Given the description of an element on the screen output the (x, y) to click on. 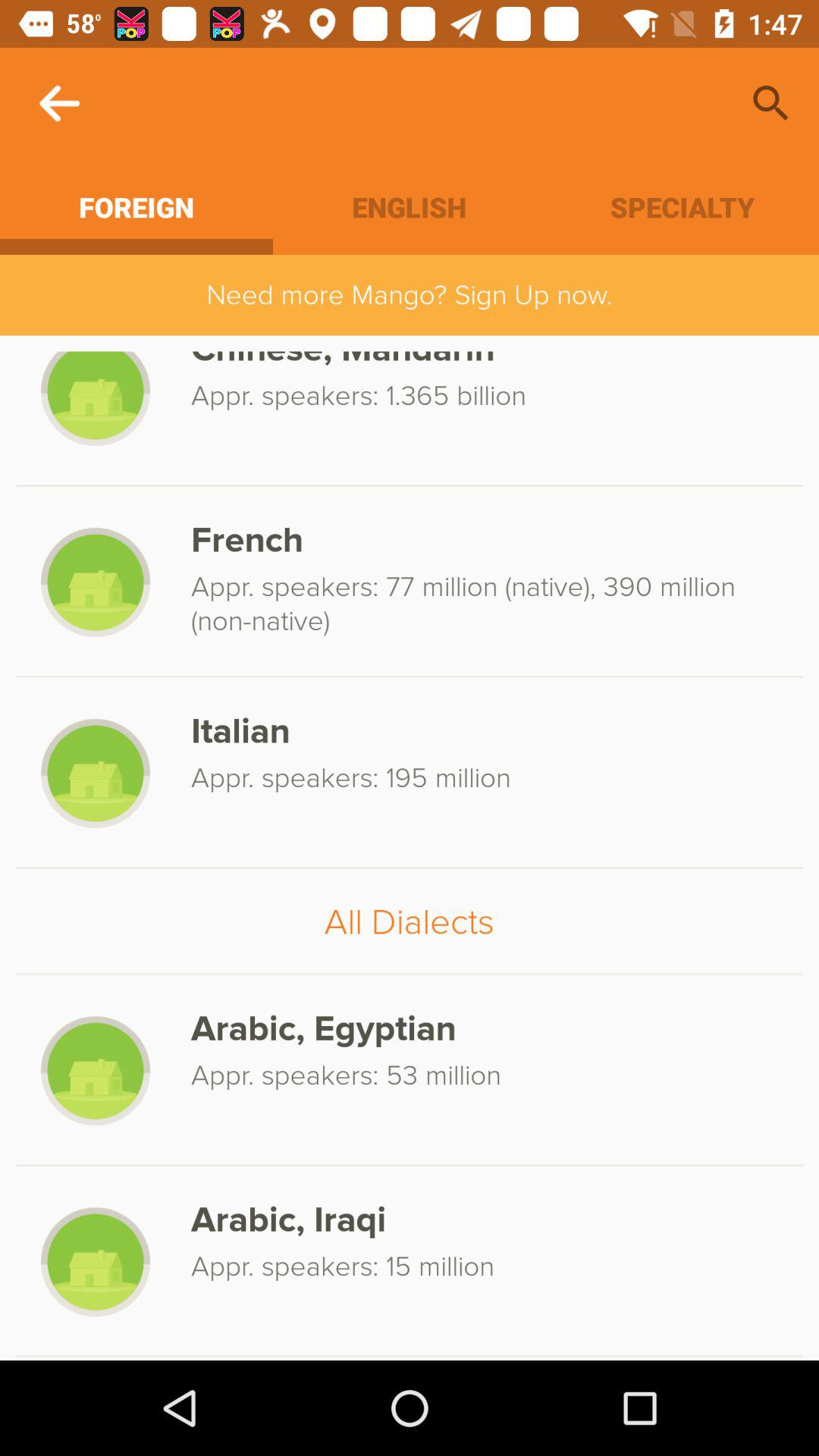
go back (59, 103)
